Given the description of an element on the screen output the (x, y) to click on. 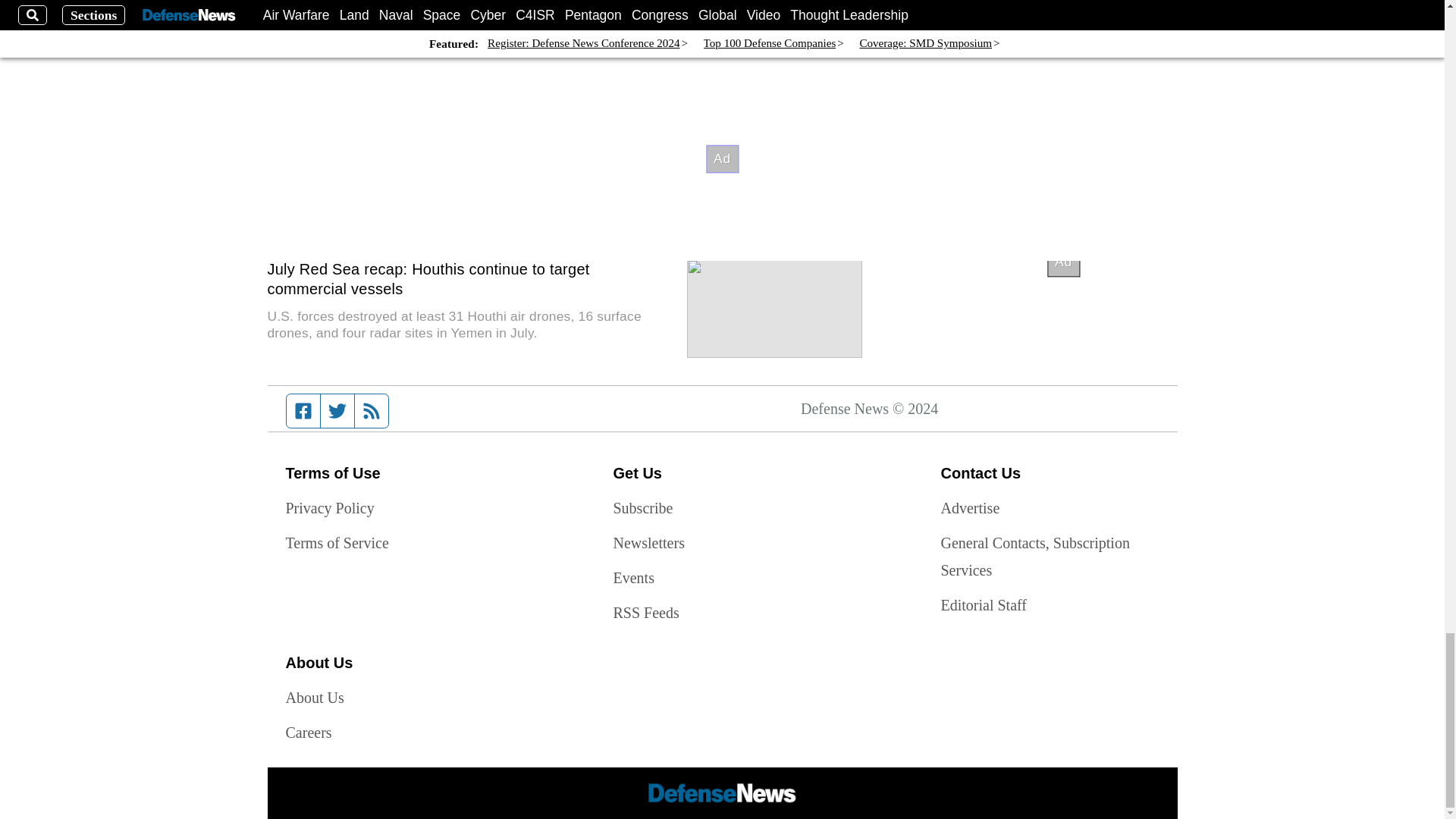
Twitter feed (336, 410)
Facebook page (303, 410)
RSS feed (371, 410)
